Given the description of an element on the screen output the (x, y) to click on. 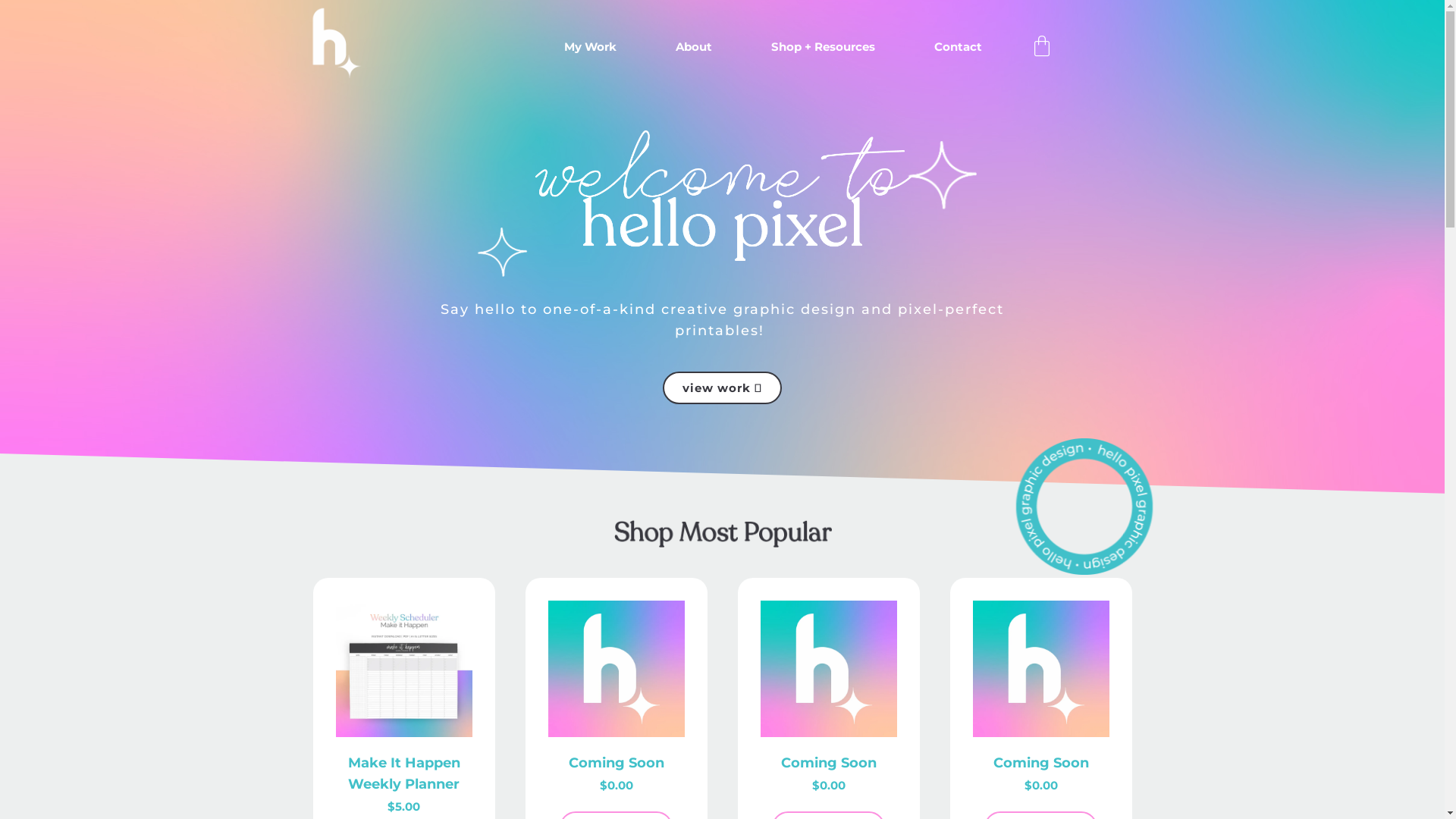
Coming Soon Element type: text (828, 762)
Coming Soon Element type: text (616, 762)
$5.00 Element type: text (403, 806)
Shop + Resources Element type: text (822, 46)
About Element type: text (692, 46)
My Work Element type: text (590, 46)
Make It Happen Weekly Planner Element type: text (403, 773)
$0.00 Element type: text (615, 785)
$0.00 Element type: text (1040, 785)
Coming Soon Element type: text (1040, 762)
$0.00 Element type: text (827, 785)
Contact Element type: text (958, 46)
Search Element type: text (950, 428)
